Given the description of an element on the screen output the (x, y) to click on. 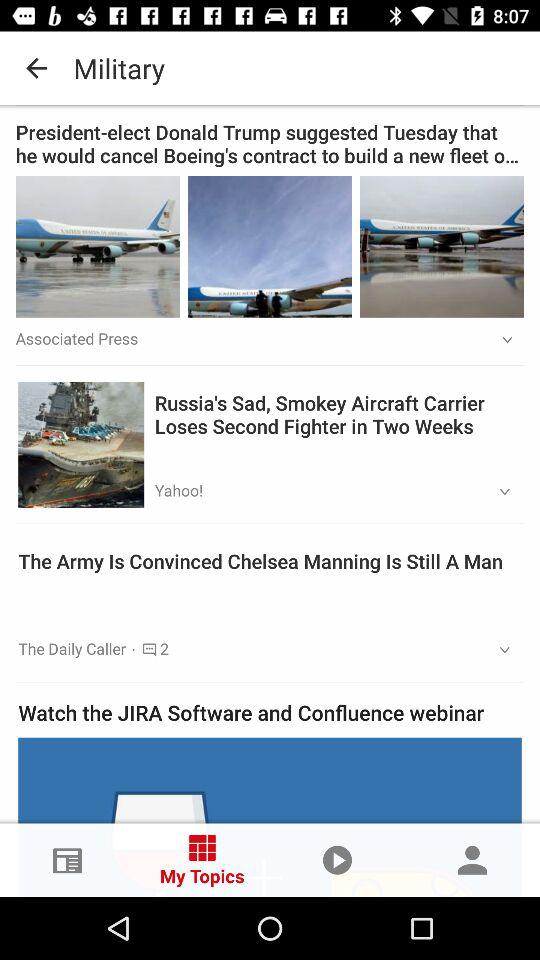
select the icon above the the army is app (498, 492)
